Given the description of an element on the screen output the (x, y) to click on. 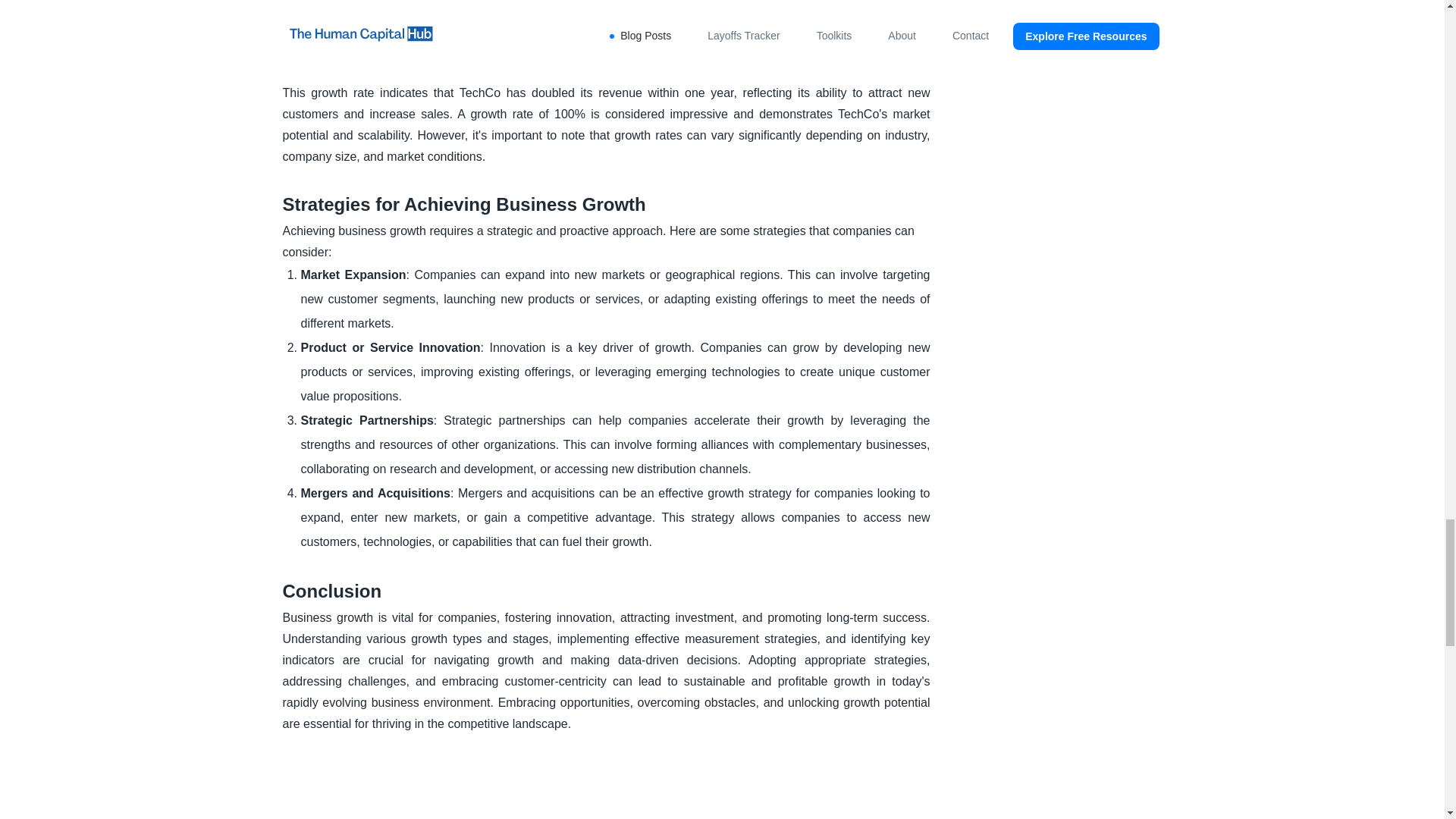
growth rate (470, 7)
cloud-based solutions (491, 29)
